Given the description of an element on the screen output the (x, y) to click on. 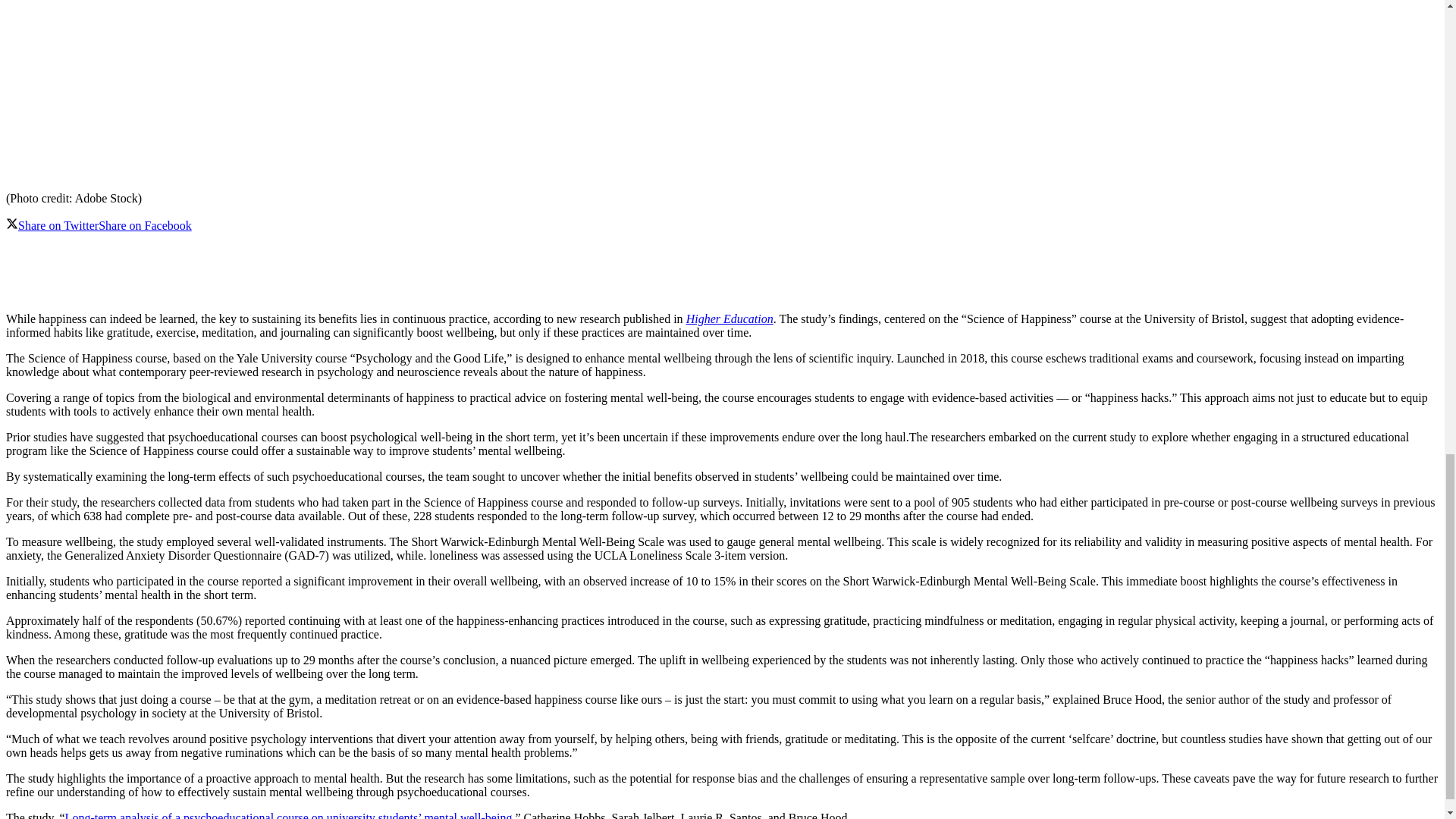
Share on Facebook (145, 225)
Share on Twitter (52, 225)
Higher Education (729, 318)
